Given the description of an element on the screen output the (x, y) to click on. 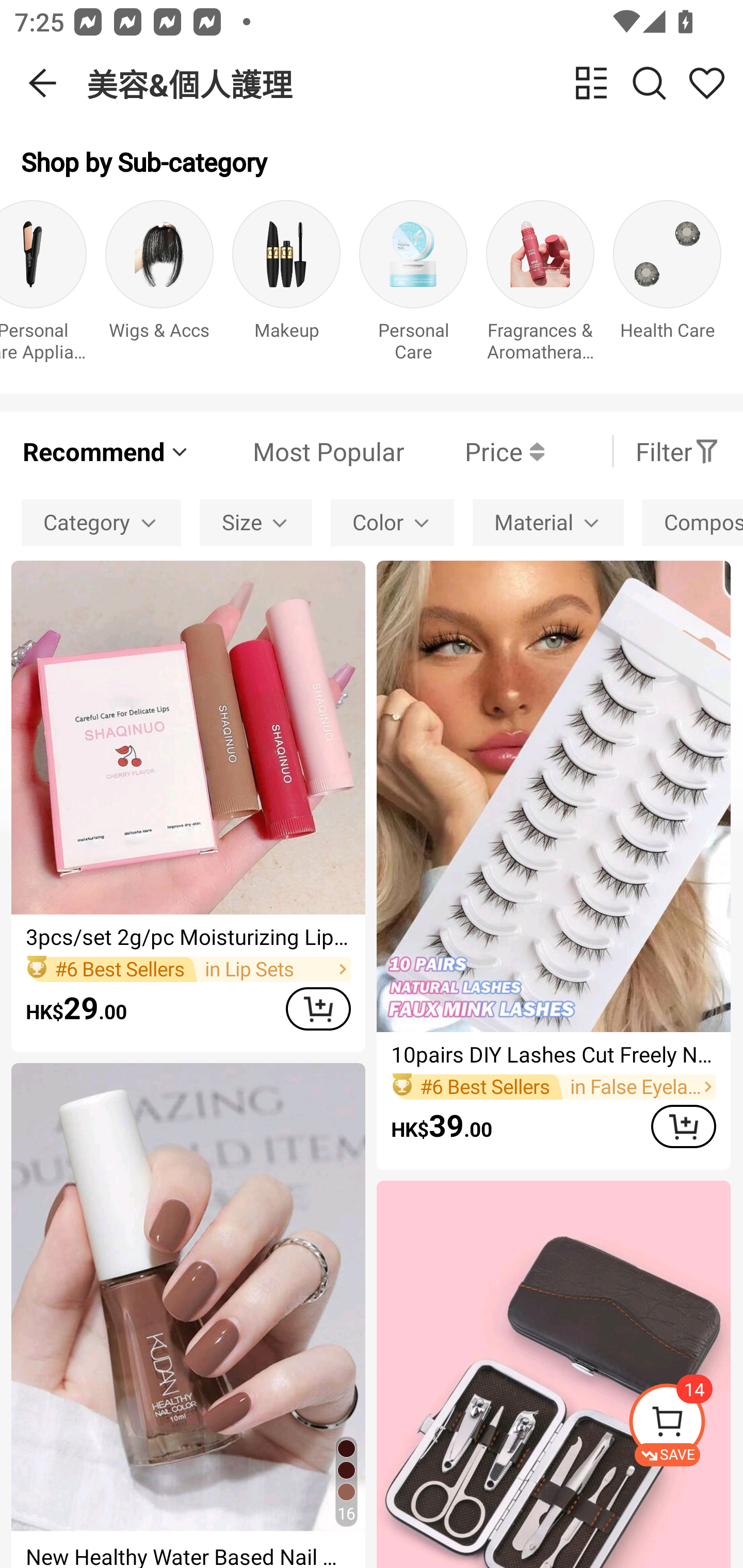
美容&個人護理 change view Search Share (414, 82)
change view (591, 82)
Search (648, 82)
Share (706, 82)
Personal Care Appliance (43, 285)
Wigs & Accs (159, 285)
Makeup (285, 285)
Personal Care (412, 285)
Fragrances & Aromatherapy (539, 285)
Health Care (666, 285)
Recommend (106, 450)
Most Popular (297, 450)
Price (474, 450)
Filter (677, 450)
Category (101, 521)
Size (255, 521)
Color (391, 521)
Material (548, 521)
Composition (692, 521)
#6 Best Sellers in Lip Sets (188, 968)
ADD TO CART (318, 1008)
#6 Best Sellers in False Eyelashes (553, 1086)
ADD TO CART (683, 1126)
7pcs Nail Clipper Set Nail Kits (553, 1374)
SAVE (685, 1424)
